Given the description of an element on the screen output the (x, y) to click on. 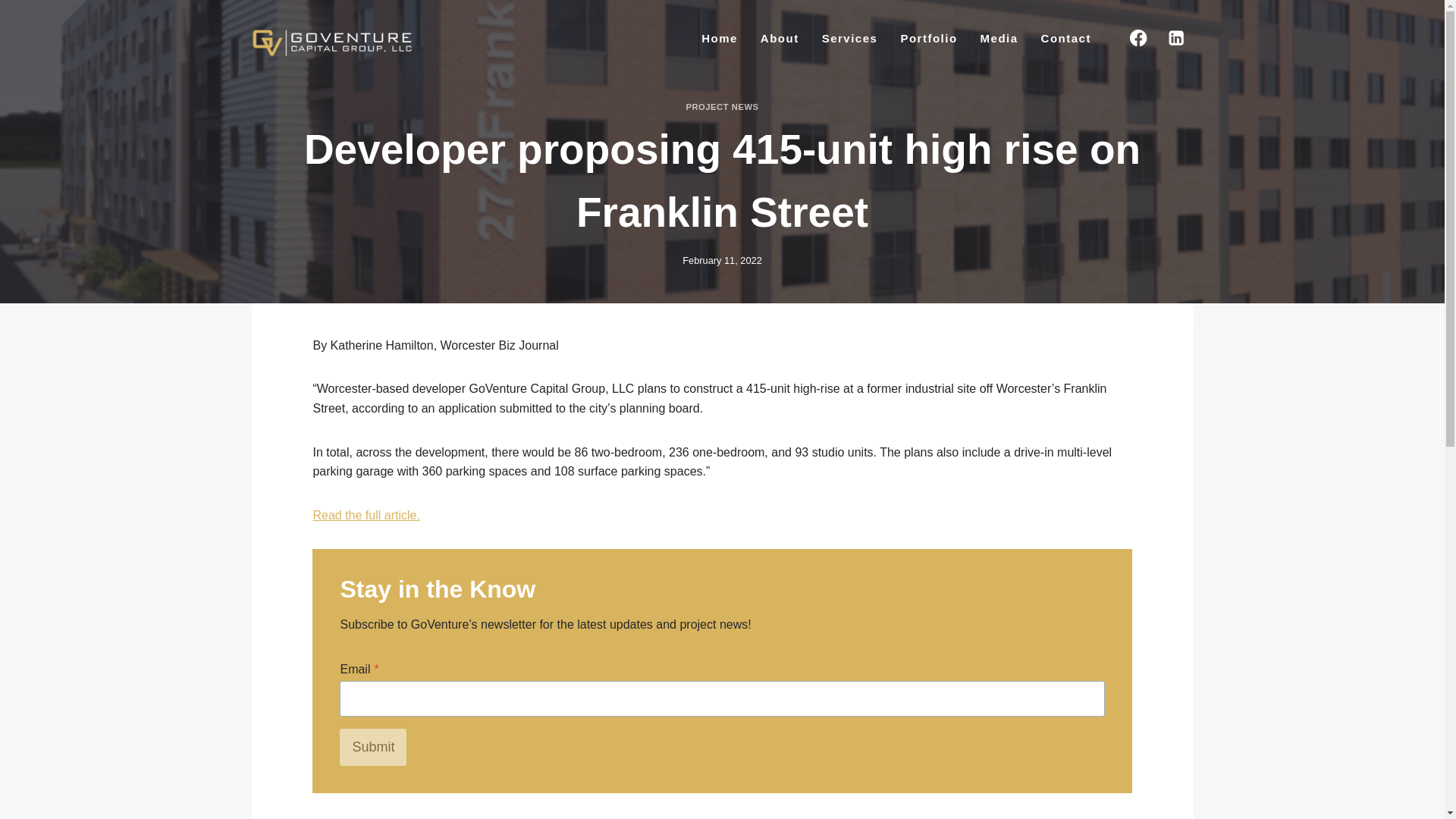
PROJECT NEWS (721, 106)
Services (849, 37)
About (779, 37)
Portfolio (928, 37)
Read the full article. (366, 514)
Media (999, 37)
Home (719, 37)
Submit (372, 746)
Contact (1065, 37)
